Given the description of an element on the screen output the (x, y) to click on. 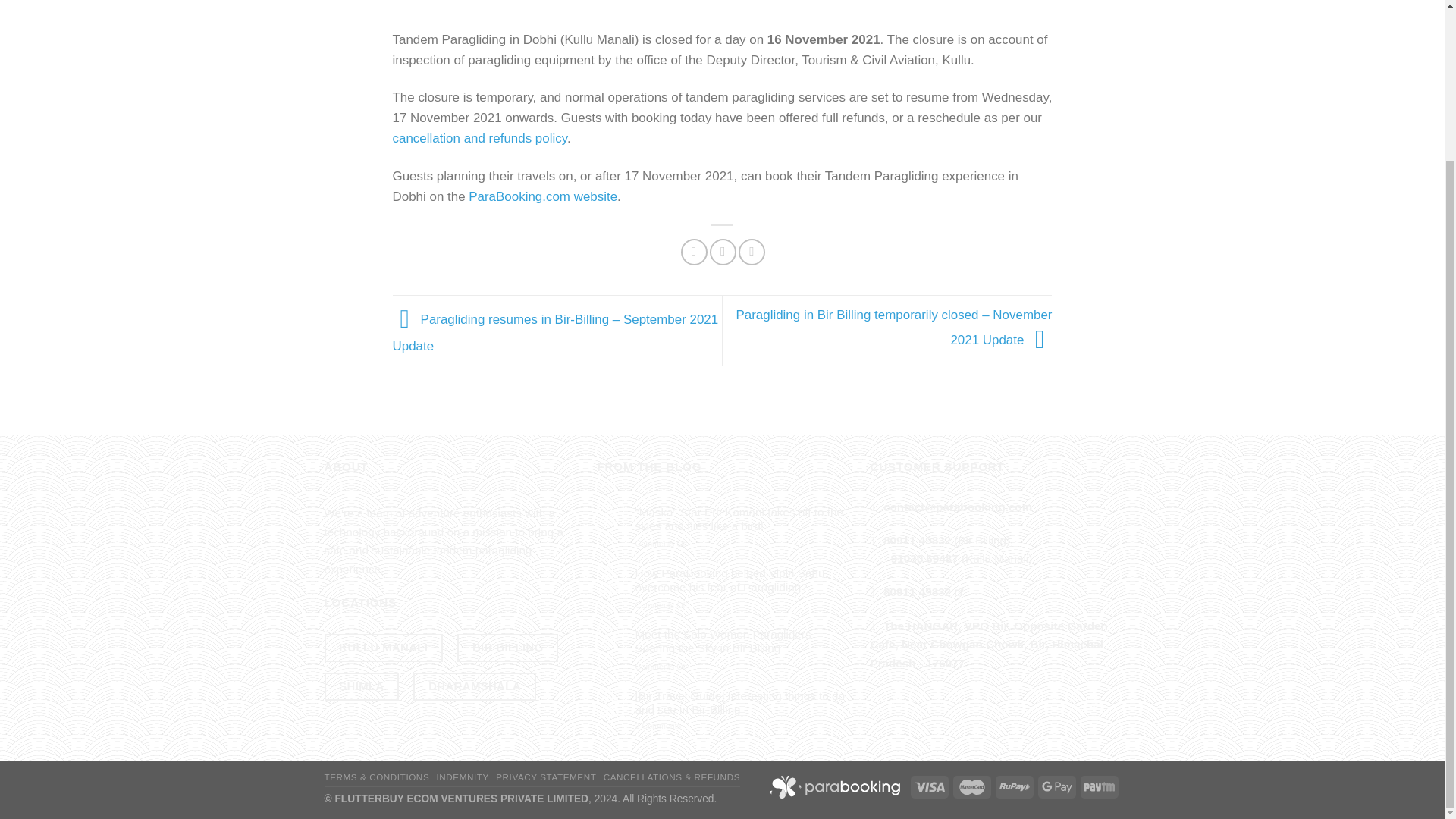
Paraglide in Bir Billing (507, 646)
Share on Twitter (723, 252)
cancellation and refunds policy (480, 138)
phone (916, 540)
ParaBooking.com website (542, 196)
phone (924, 558)
Paraglide in Dharamshala (474, 686)
Share on Facebook (694, 252)
email (957, 505)
Paraglide in Shimla (361, 686)
SHIMLA (361, 686)
KULLU MANALI (384, 646)
BIR BILLING (507, 646)
